Given the description of an element on the screen output the (x, y) to click on. 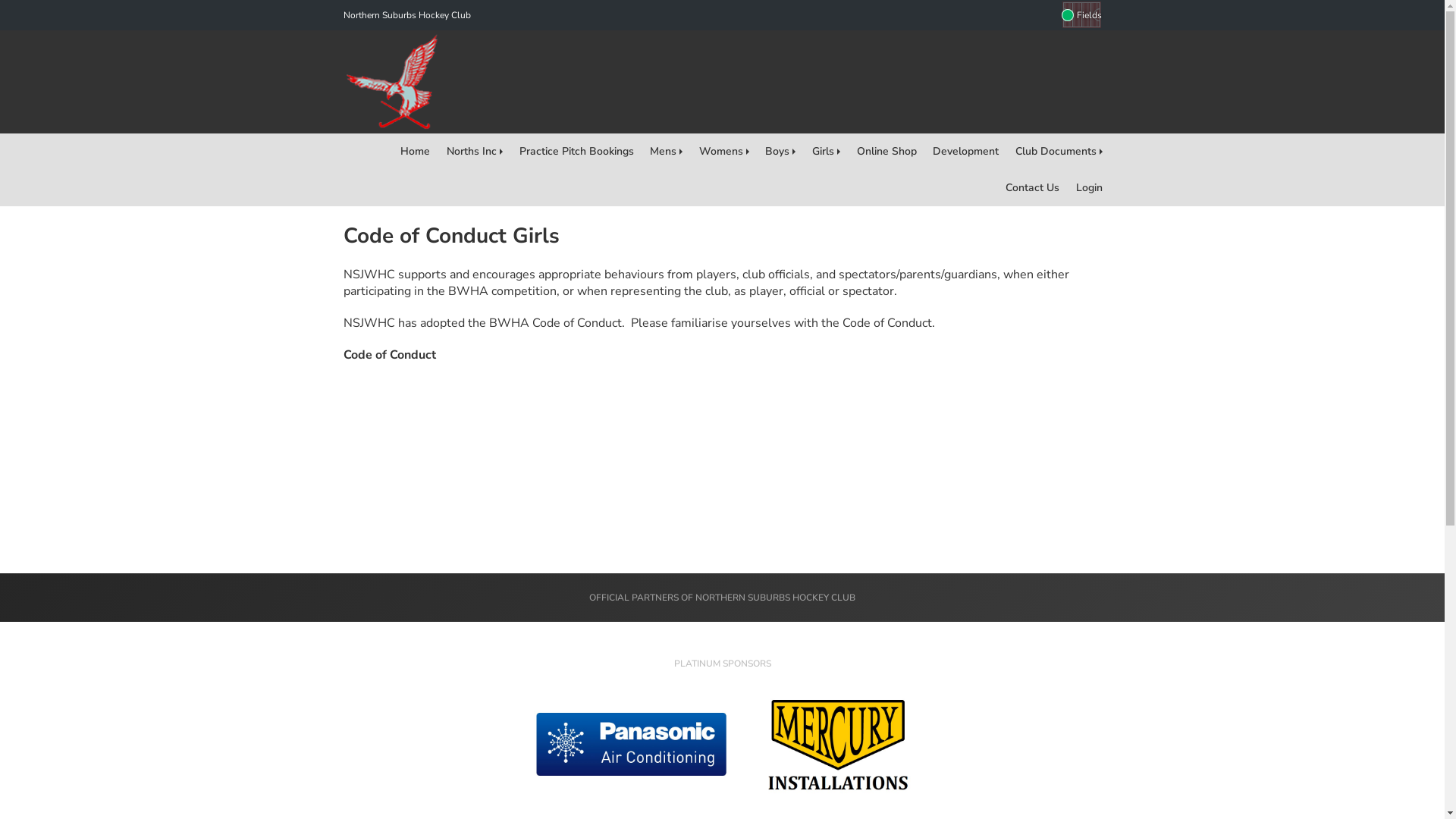
Club Documents Element type: text (1058, 151)
Northern Suburbs Hockey Club Element type: text (406, 15)
Online Shop Element type: text (886, 151)
Norths Inc Element type: text (474, 151)
Fields Element type: text (1081, 15)
Mens Element type: text (665, 151)
Development Element type: text (965, 151)
Boys Element type: text (780, 151)
Practice Pitch Bookings Element type: text (576, 151)
Login Element type: text (1088, 187)
Code of Conduct Element type: text (388, 354)
Girls Element type: text (825, 151)
Womens Element type: text (723, 151)
Contact Us Element type: text (1032, 187)
Home Element type: text (415, 151)
